Given the description of an element on the screen output the (x, y) to click on. 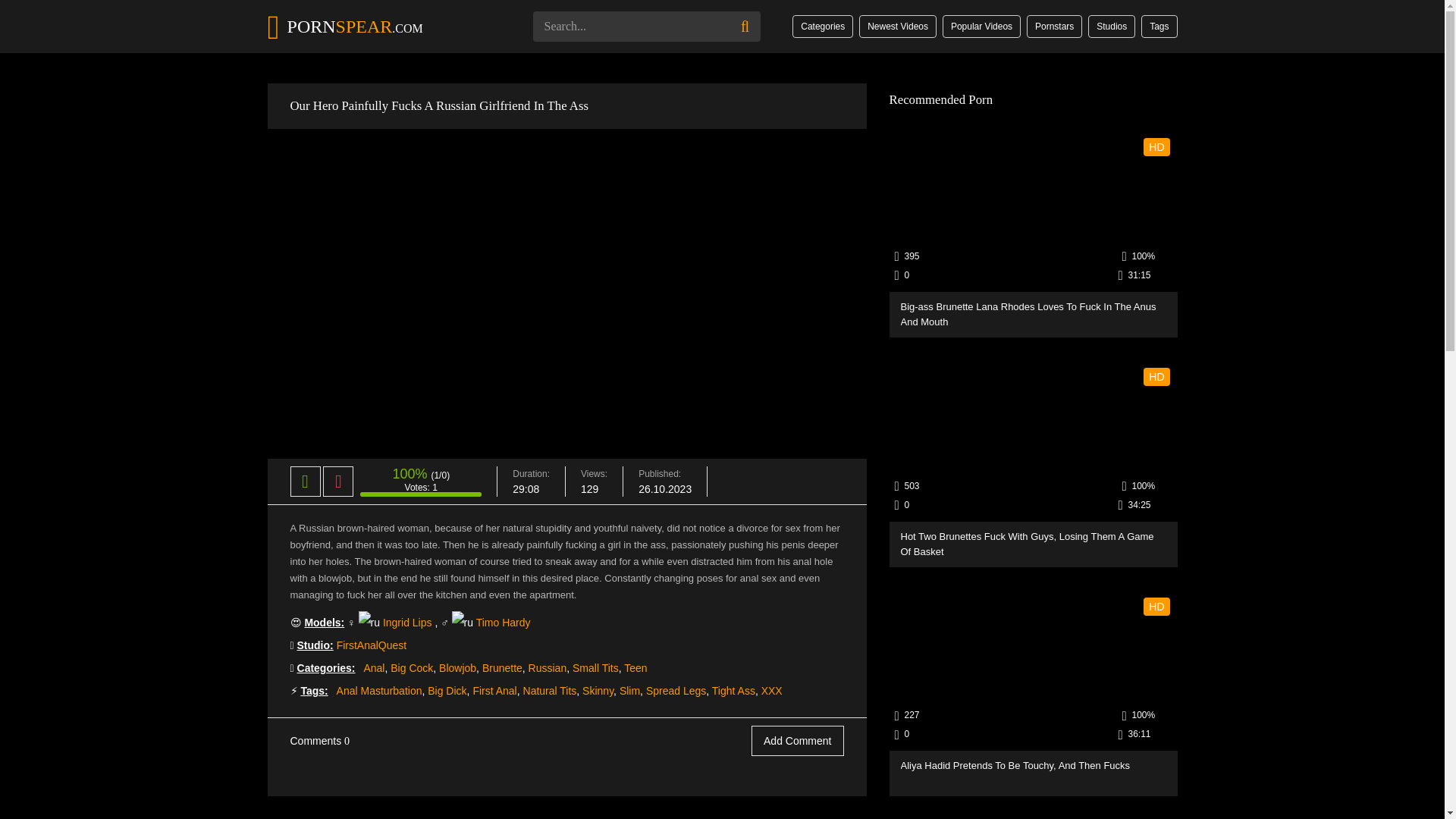
Brunette (501, 667)
Slim (630, 690)
Tight Ass (733, 690)
Most Popular Trends (1158, 26)
Hottest Pornstars (1053, 26)
Models: (323, 622)
Russian (547, 667)
Pornstars (1053, 26)
Ingrid Lips (407, 622)
